Given the description of an element on the screen output the (x, y) to click on. 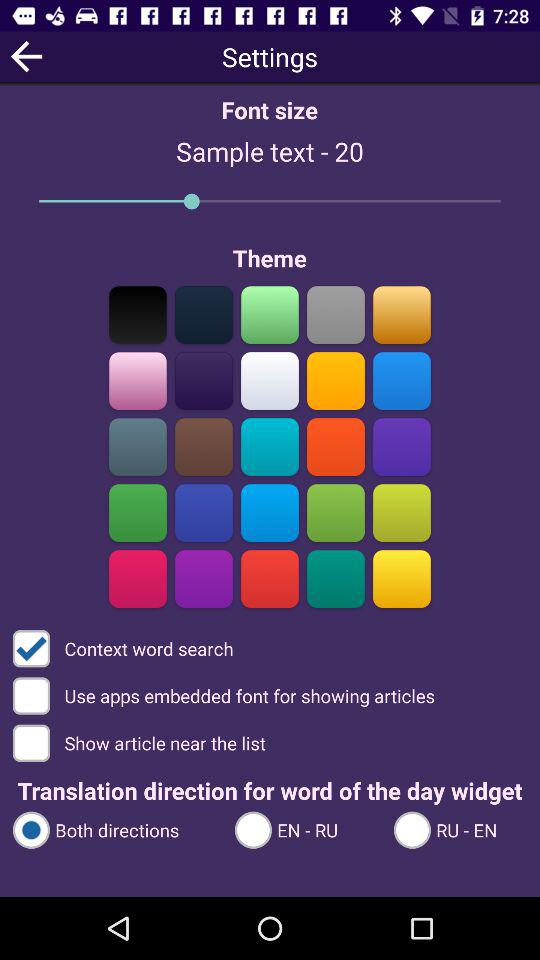
set theme to orange (401, 314)
